Given the description of an element on the screen output the (x, y) to click on. 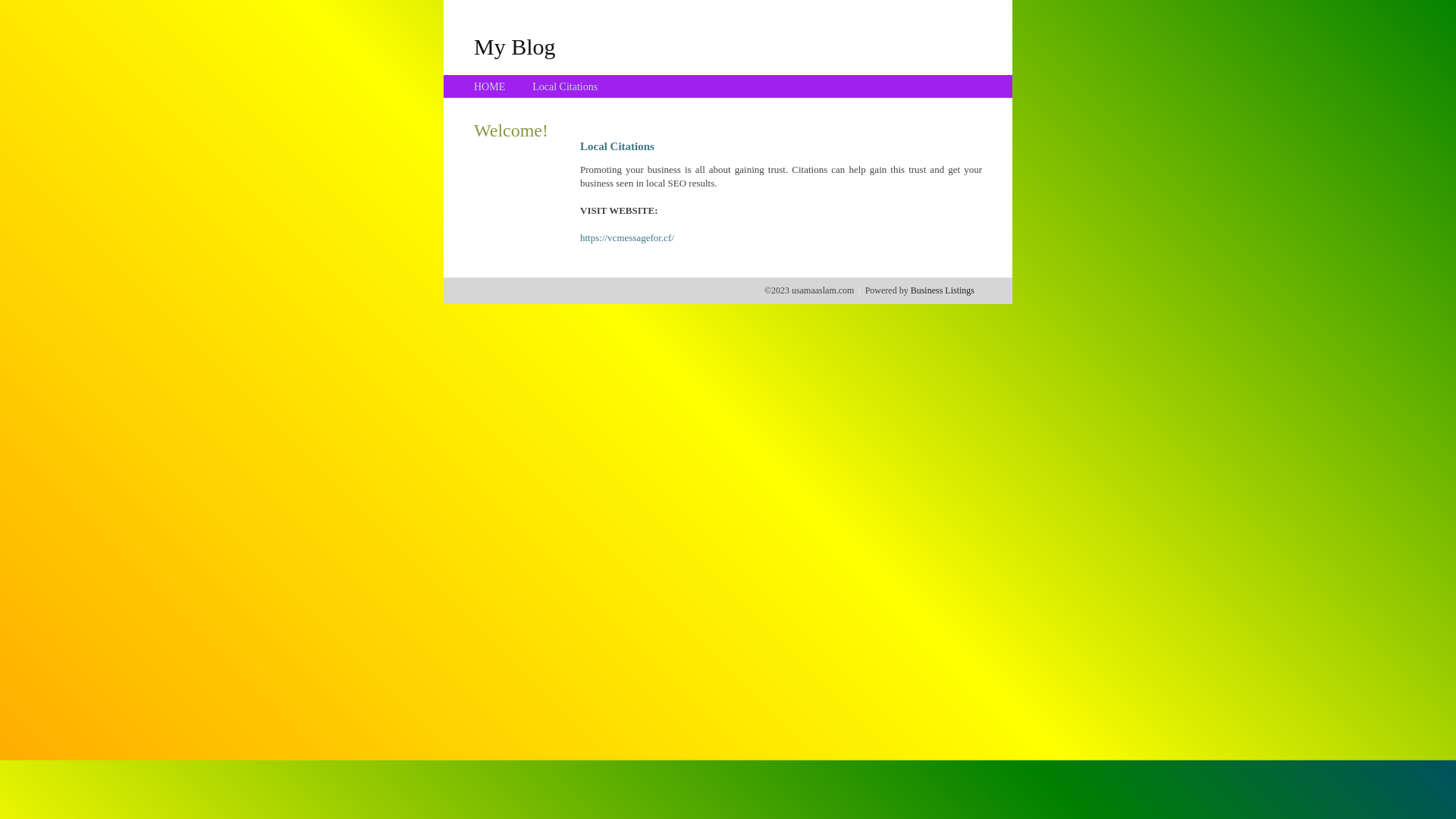
Business Listings Element type: text (942, 290)
HOME Element type: text (489, 86)
https://vcmessagefor.cf/ Element type: text (627, 237)
Local Citations Element type: text (564, 86)
My Blog Element type: text (514, 46)
